Given the description of an element on the screen output the (x, y) to click on. 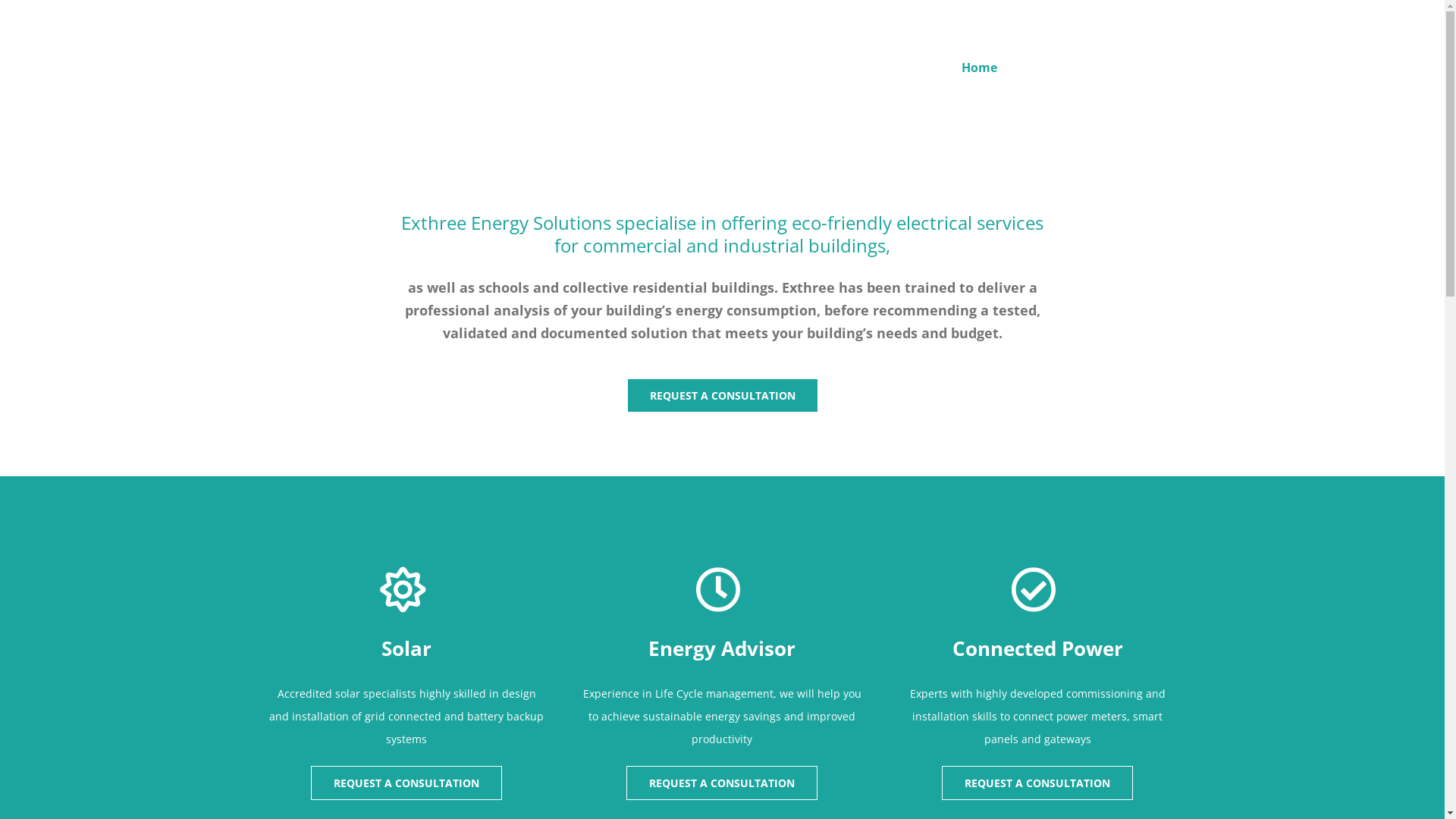
Home Element type: text (979, 67)
REQUEST A CONSULTATION Element type: text (1036, 782)
REQUEST A CONSULTATION Element type: text (721, 395)
REQUEST A CONSULTATION Element type: text (406, 782)
REQUEST A CONSULTATION Element type: text (721, 782)
Request a Consultation Element type: text (1087, 67)
